Given the description of an element on the screen output the (x, y) to click on. 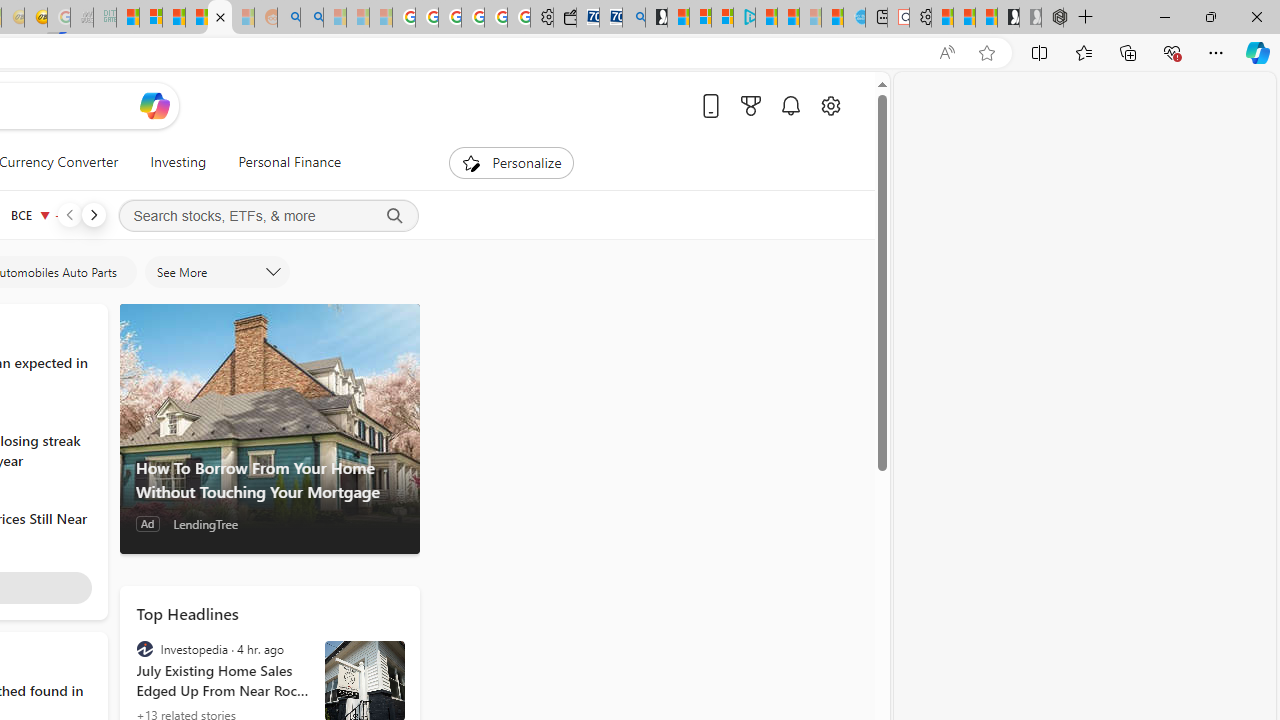
Notifications (790, 105)
See More (216, 272)
Microsoft Start (766, 17)
Play Free Online Games | Games from Microsoft Start (1008, 17)
Previous (69, 214)
Utah sues federal government - Search (311, 17)
